Given the description of an element on the screen output the (x, y) to click on. 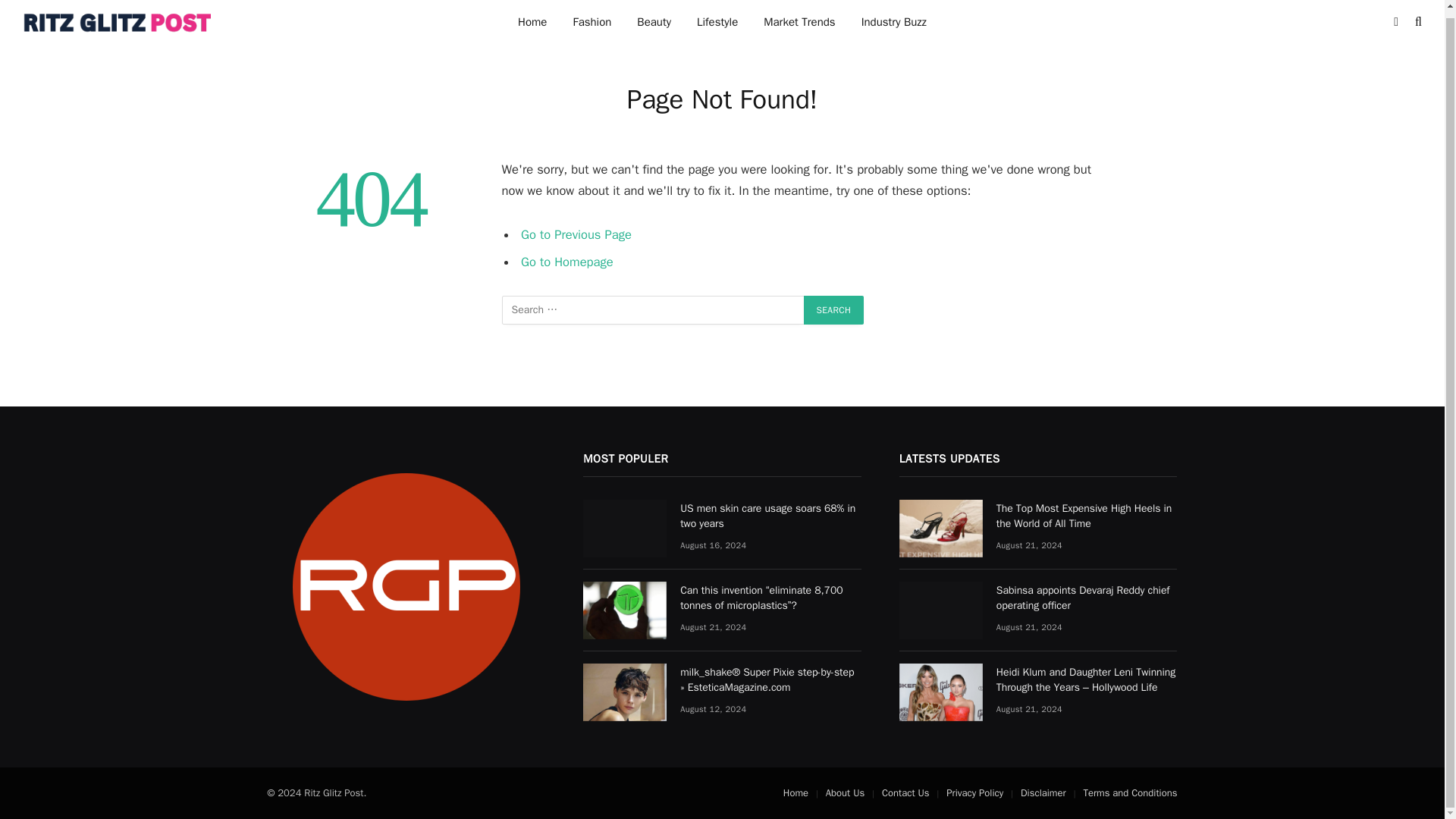
Search (833, 309)
Beauty (654, 25)
About Us (844, 792)
Ritz glitz Post (119, 25)
Go to Homepage (566, 261)
Sabinsa appoints Devaraj Reddy chief operating officer (940, 610)
Industry Buzz (893, 25)
Contact Us (906, 792)
The Top Most Expensive High Heels in the World of All Time (940, 528)
The Top Most Expensive High Heels in the World of All Time (1086, 516)
